Given the description of an element on the screen output the (x, y) to click on. 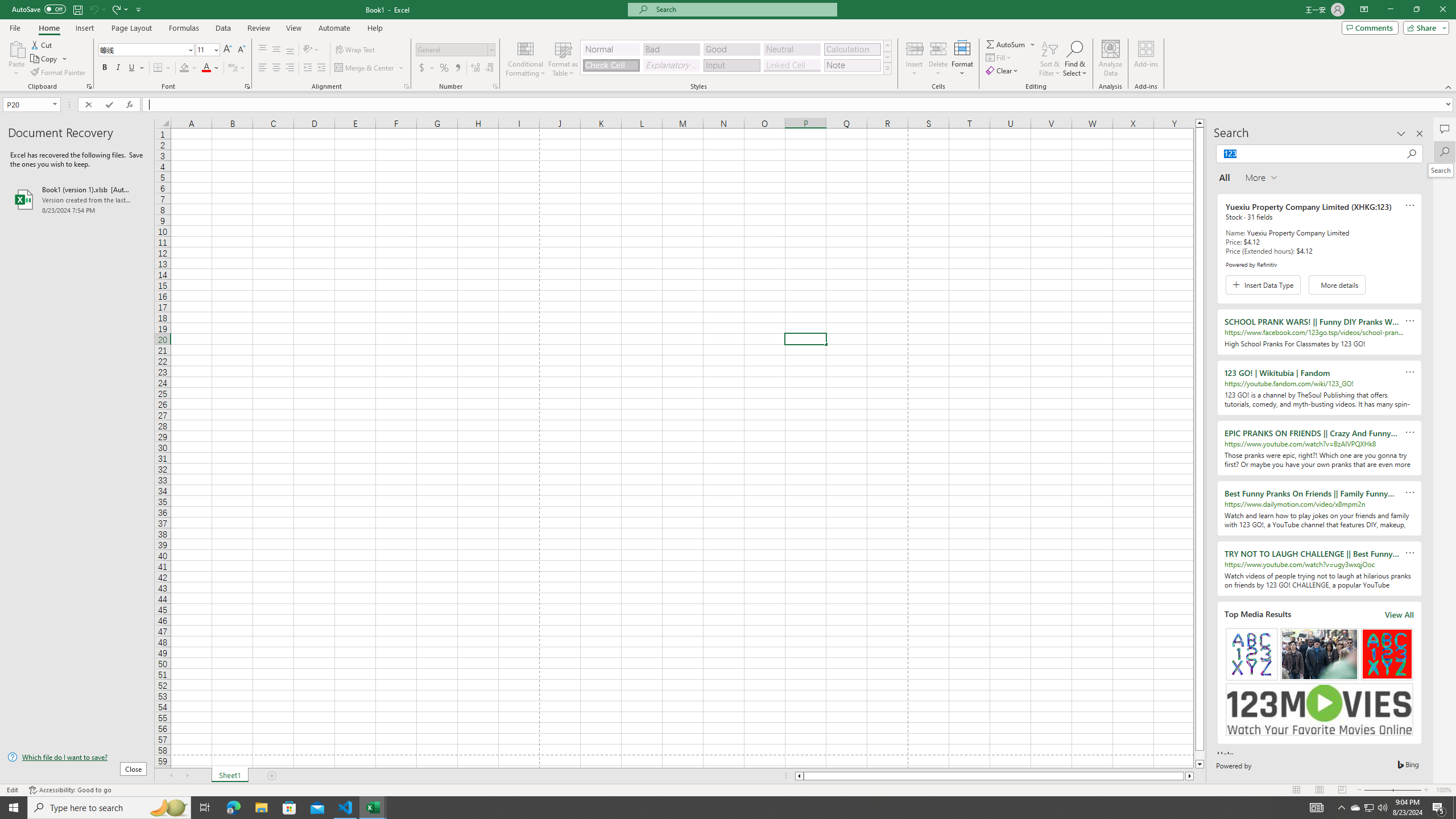
Accounting Number Format (422, 67)
Font (142, 49)
